Given the description of an element on the screen output the (x, y) to click on. 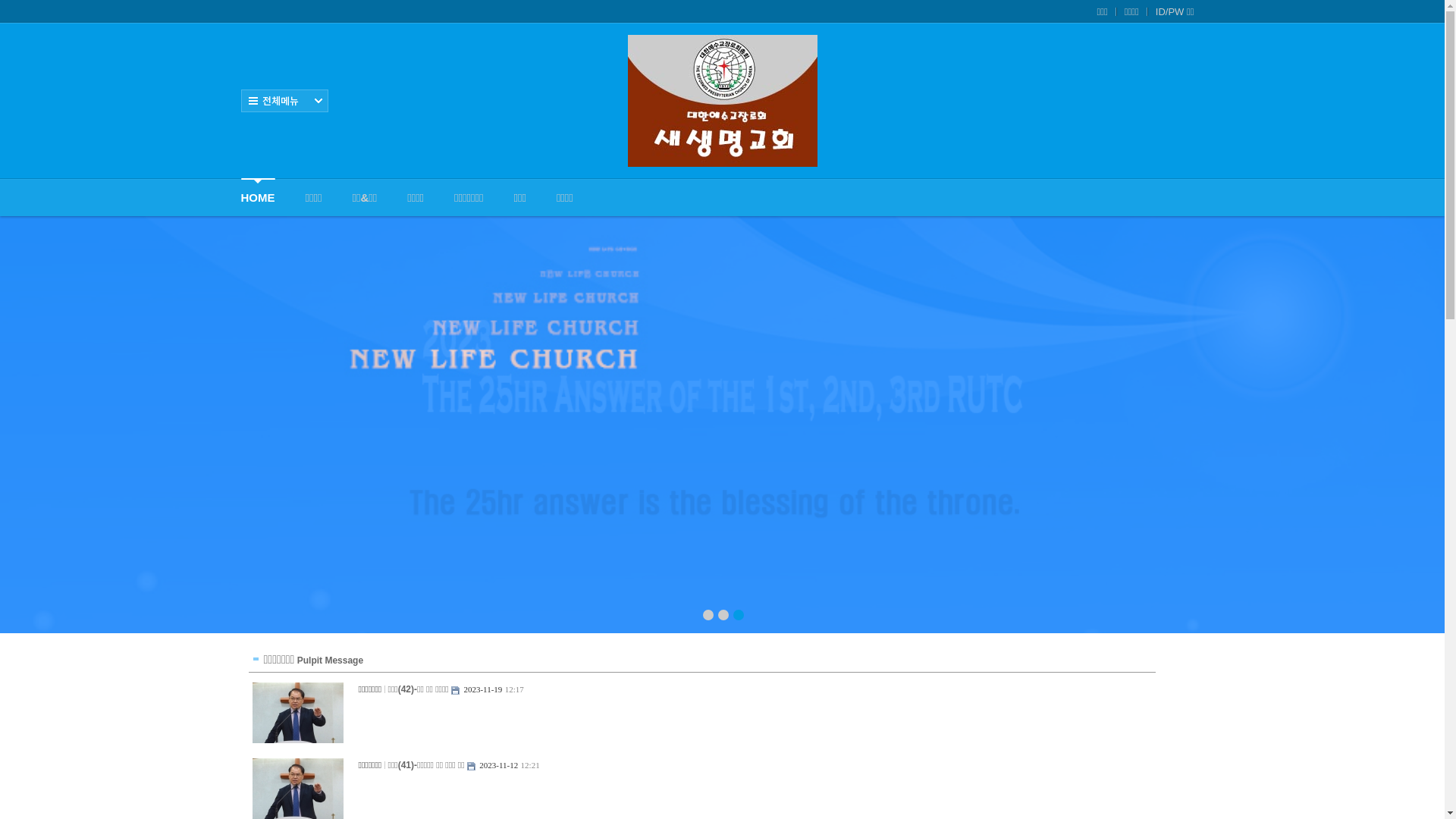
file Element type: hover (471, 766)
file Element type: hover (455, 690)
HOME Element type: text (258, 197)
